Given the description of an element on the screen output the (x, y) to click on. 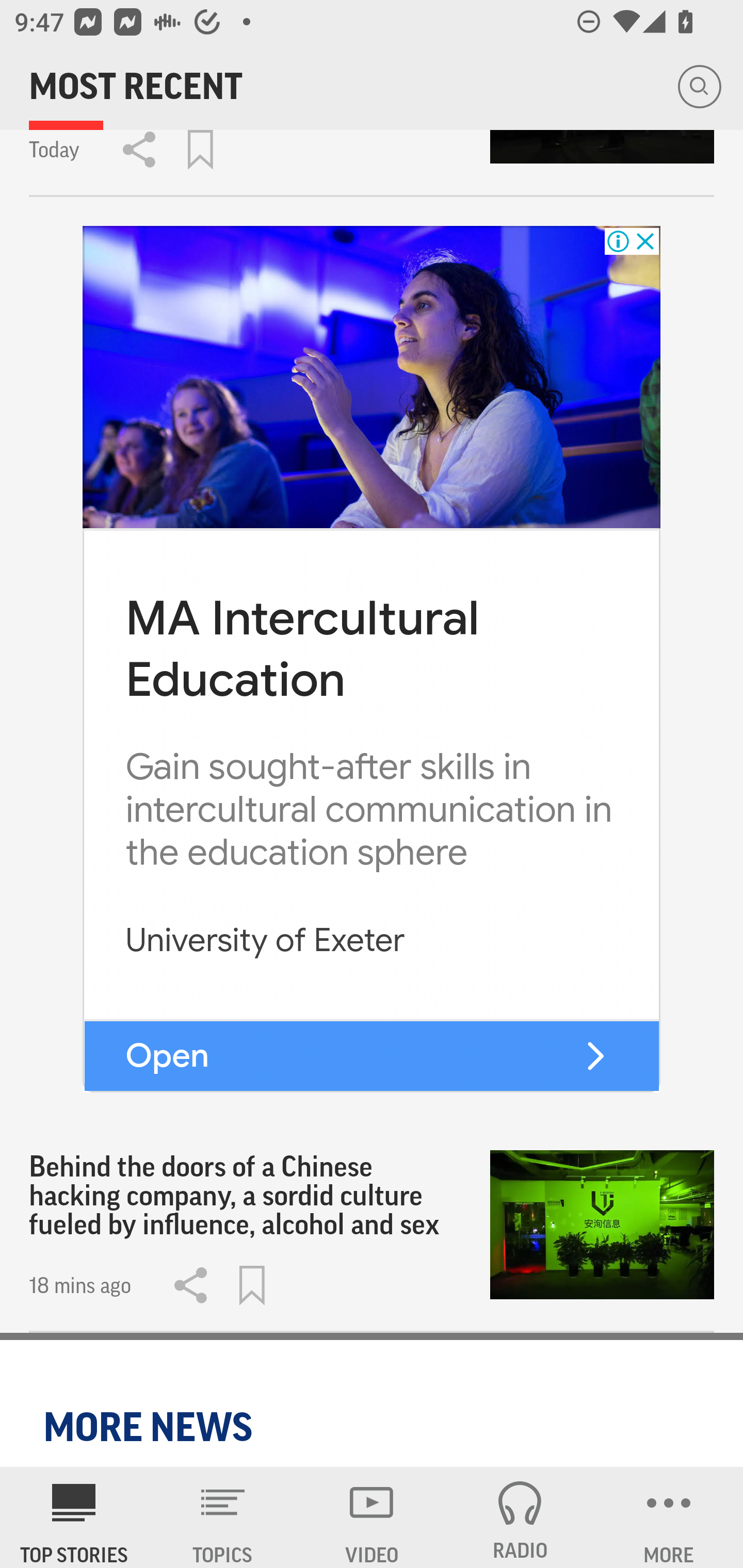
University of Exeter (264, 940)
Open (167, 1054)
MORE NEWS (151, 1426)
AP News TOP STORIES (74, 1517)
TOPICS (222, 1517)
VIDEO (371, 1517)
RADIO (519, 1517)
MORE (668, 1517)
